Given the description of an element on the screen output the (x, y) to click on. 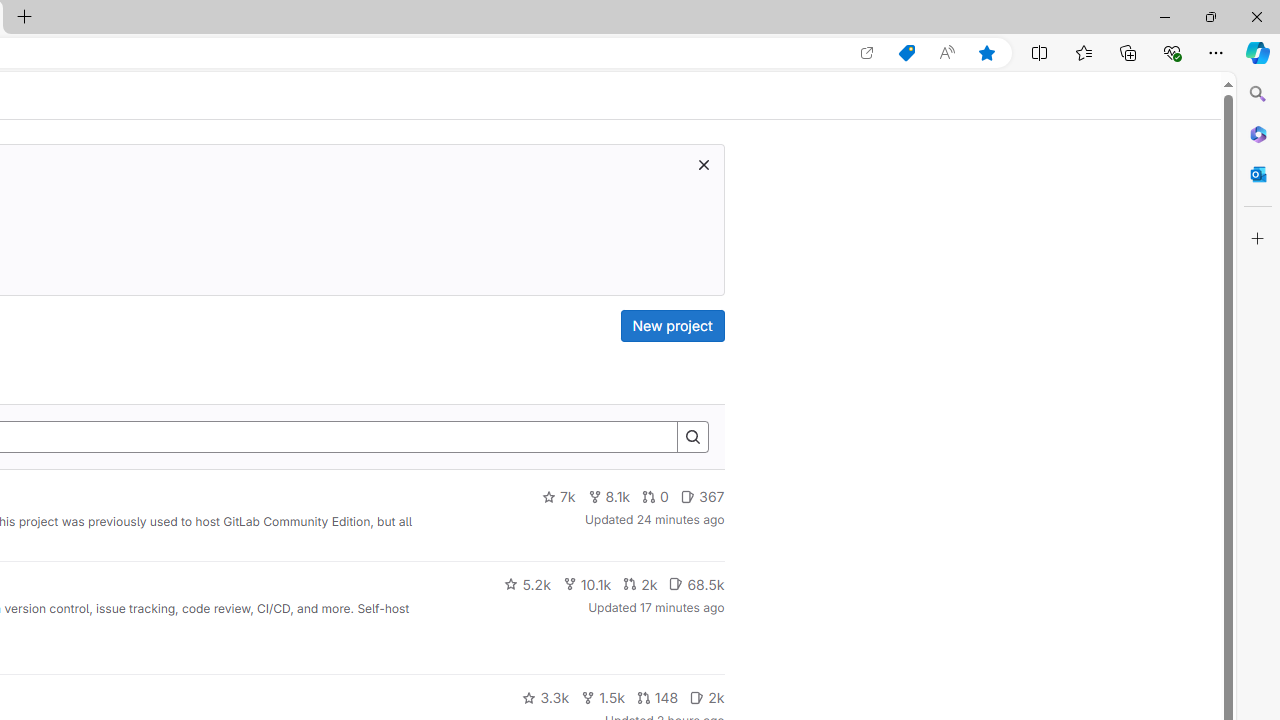
0 (655, 497)
Close Outlook pane (1258, 174)
Customize (1258, 239)
7k (558, 497)
2k (706, 697)
Shopping in Microsoft Edge (906, 53)
3.3k (545, 697)
10.1k (586, 583)
1.5k (602, 697)
367 (701, 497)
Class: s14 gl-mr-2 (697, 696)
Dismiss trial promotion (703, 164)
148 (657, 697)
